Given the description of an element on the screen output the (x, y) to click on. 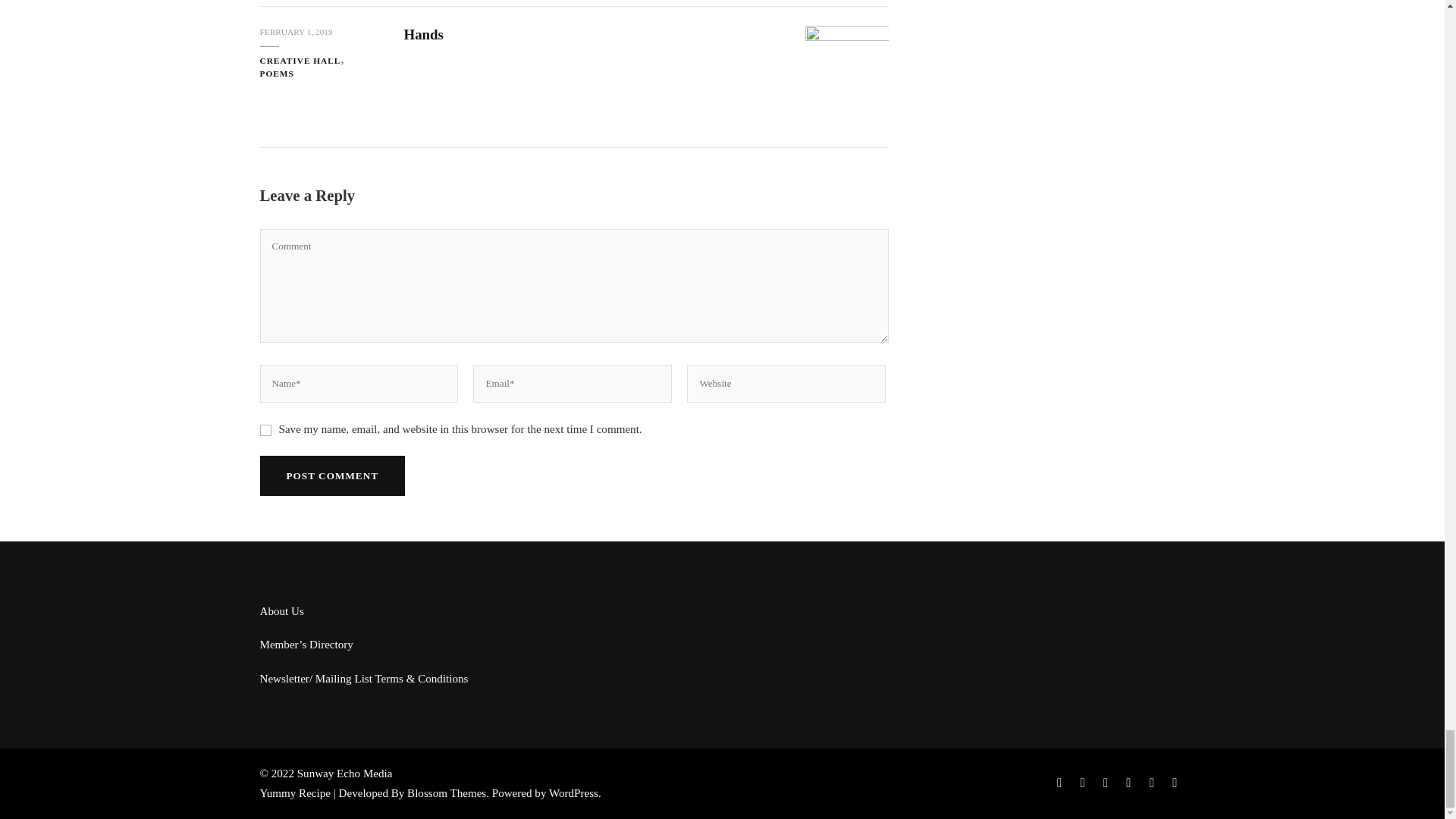
Post Comment (331, 475)
